Given the description of an element on the screen output the (x, y) to click on. 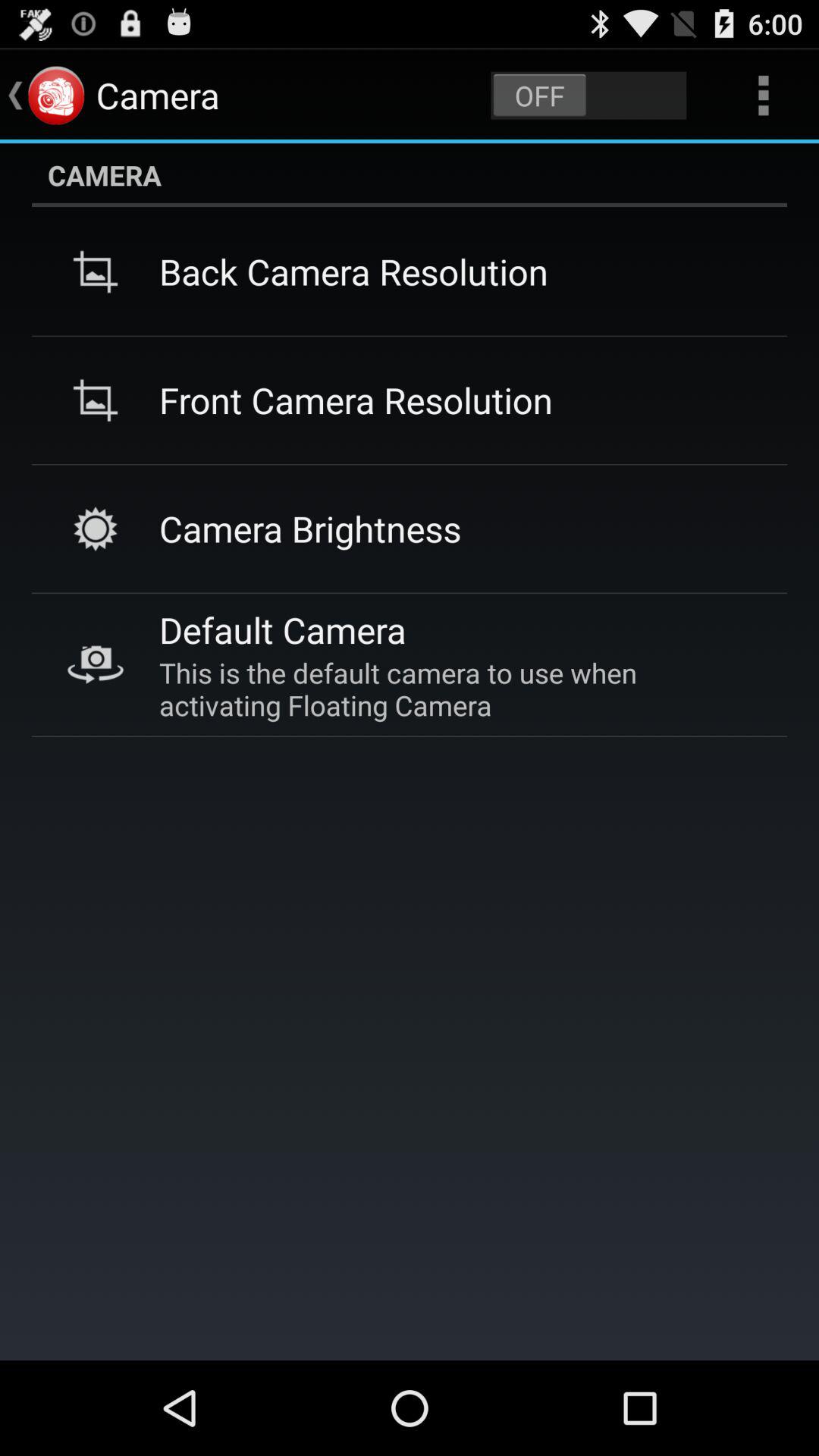
launch the icon to the right of the camera item (588, 95)
